Given the description of an element on the screen output the (x, y) to click on. 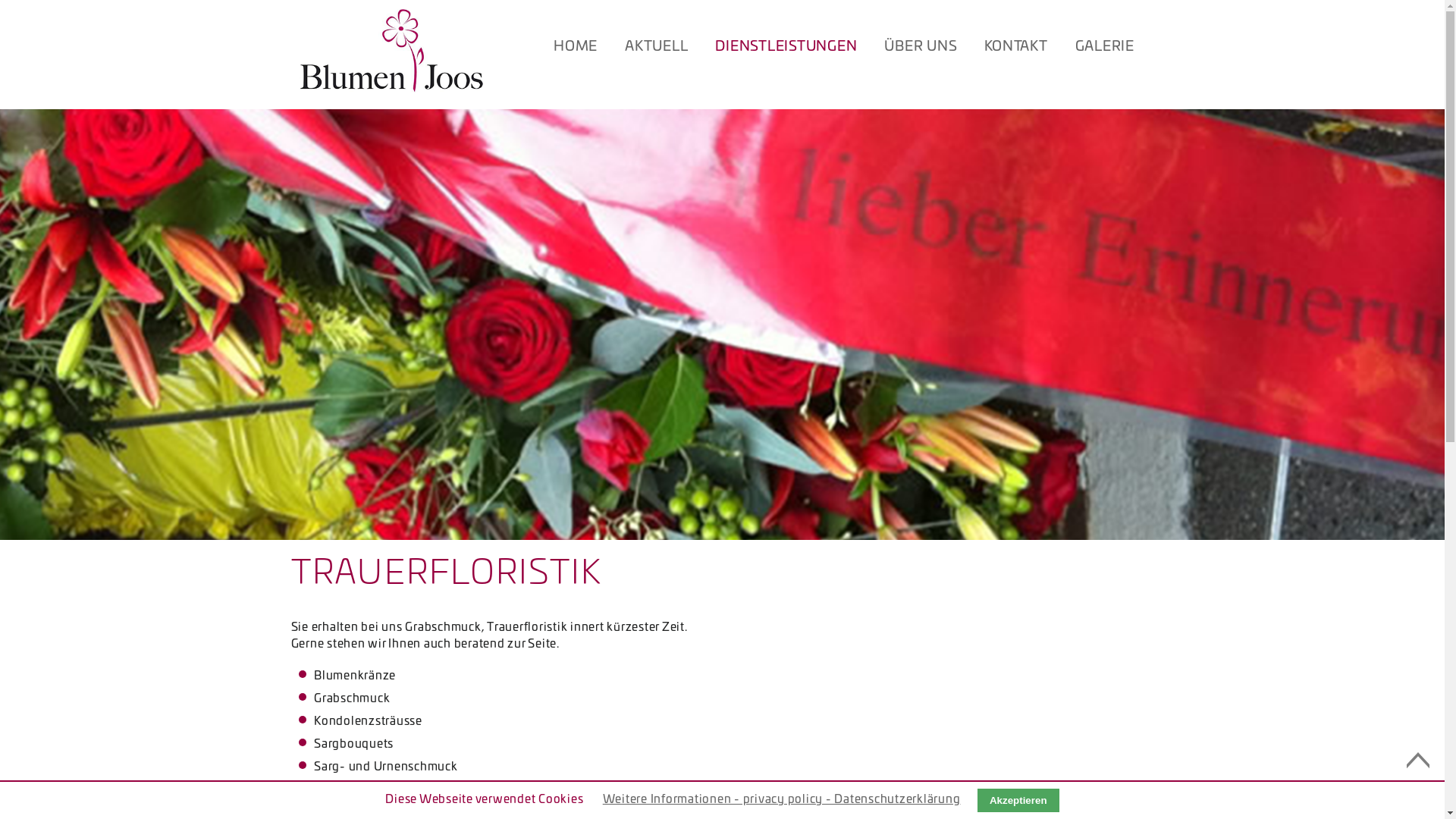
GALERIE Element type: text (1104, 46)
Akzeptieren Element type: text (1018, 800)
AKTUELL Element type: text (656, 46)
HOME Element type: text (582, 46)
DIENSTLEISTUNGEN Element type: text (785, 46)
  Element type: text (566, 63)
KONTAKT Element type: text (1015, 46)
